Given the description of an element on the screen output the (x, y) to click on. 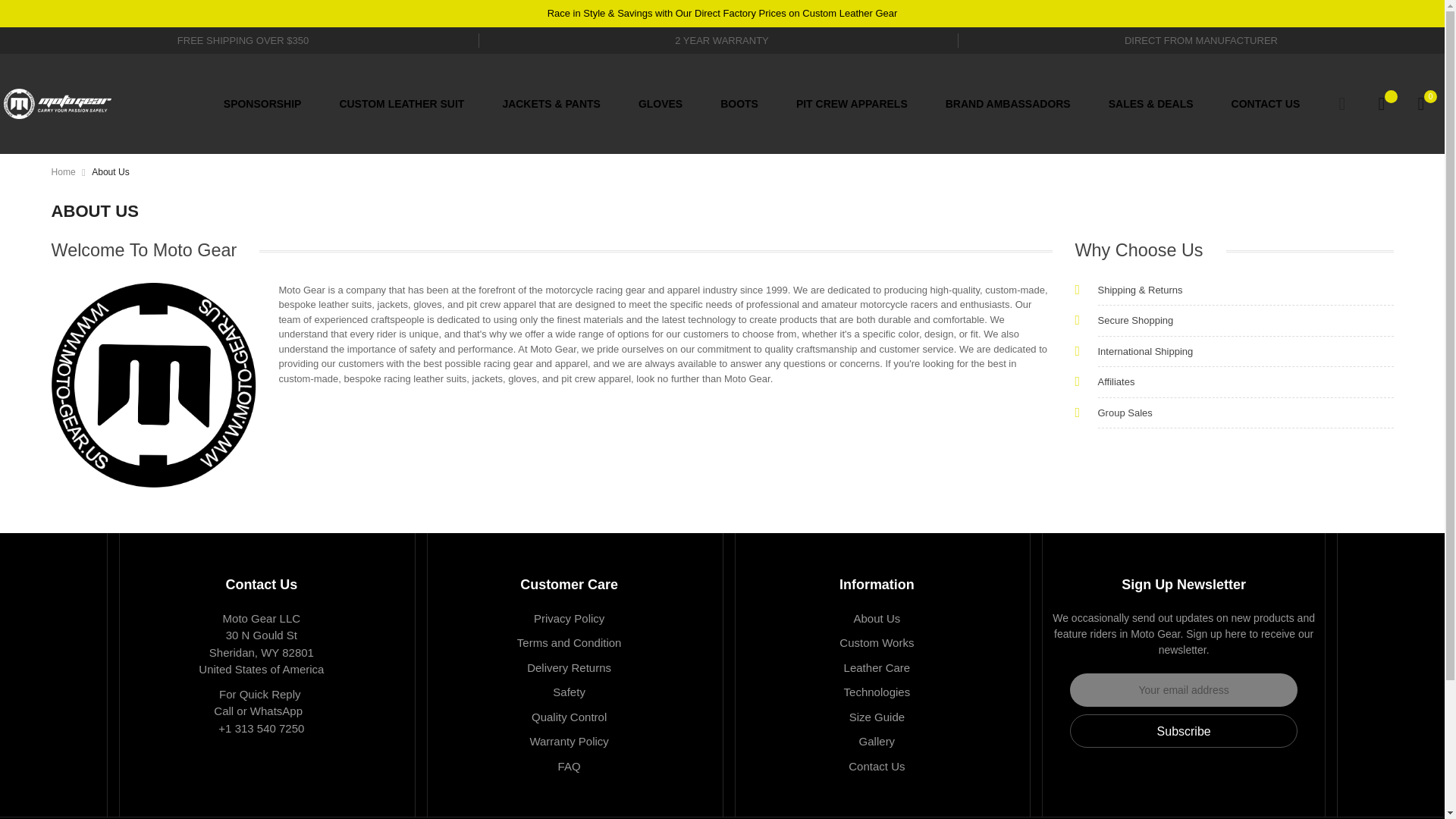
Secure Shopping (1245, 320)
Affiliates (1245, 382)
Subscribe (1183, 730)
Go to Home Page (62, 172)
Wishlist (1380, 103)
International Shipping (1245, 351)
BRAND AMBASSADORS (1007, 103)
CONTACT US (1265, 103)
Group Sales (1245, 413)
GLOVES (660, 103)
